Given the description of an element on the screen output the (x, y) to click on. 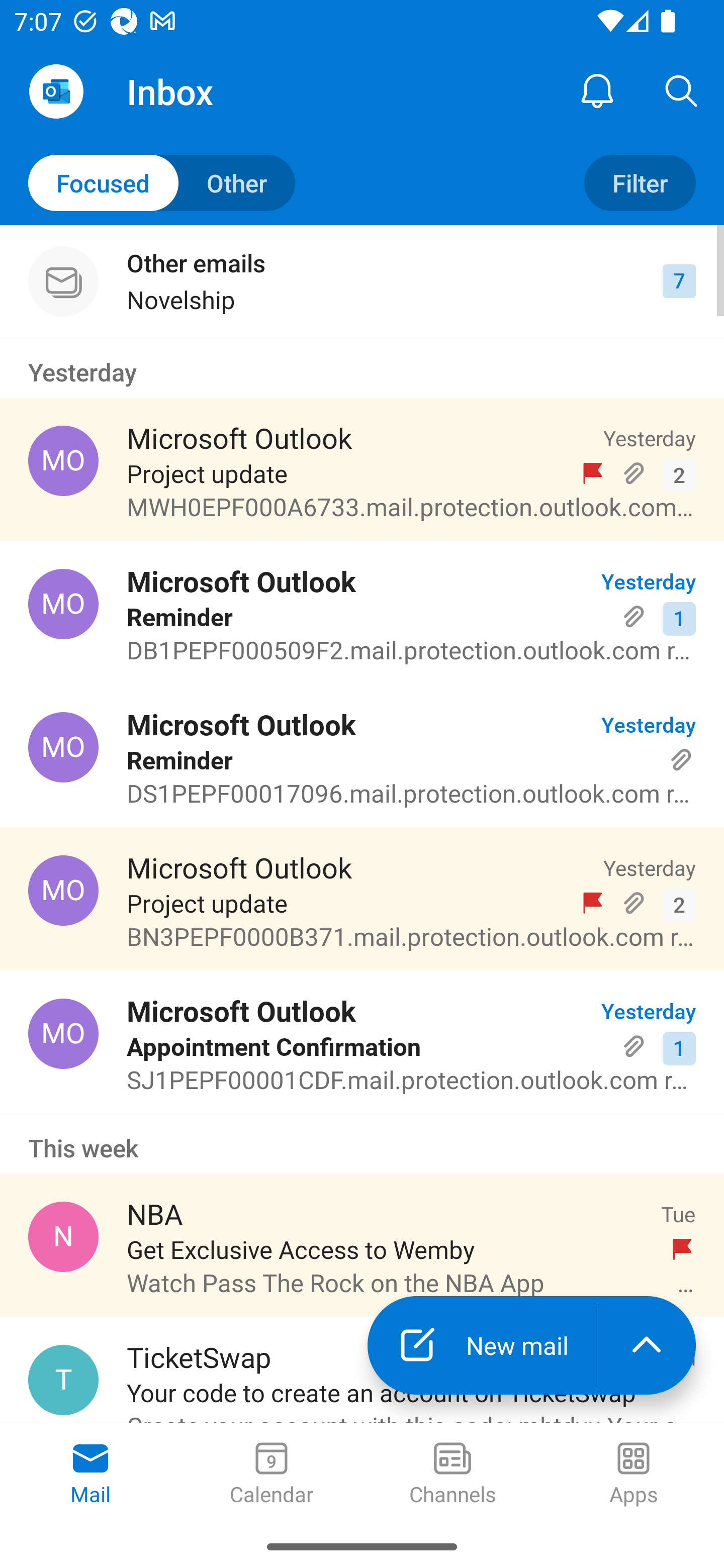
Notification Center (597, 90)
Search, ,  (681, 90)
Open Navigation Drawer (55, 91)
Toggle to other mails (161, 183)
Filter (639, 183)
Other emails Novelship 7 (362, 281)
NBA, NBA@email.nba.com (63, 1236)
New mail (481, 1344)
launch the extended action menu (646, 1344)
TicketSwap, info@ticketswap.com (63, 1380)
Calendar (271, 1474)
Channels (452, 1474)
Apps (633, 1474)
